Given the description of an element on the screen output the (x, y) to click on. 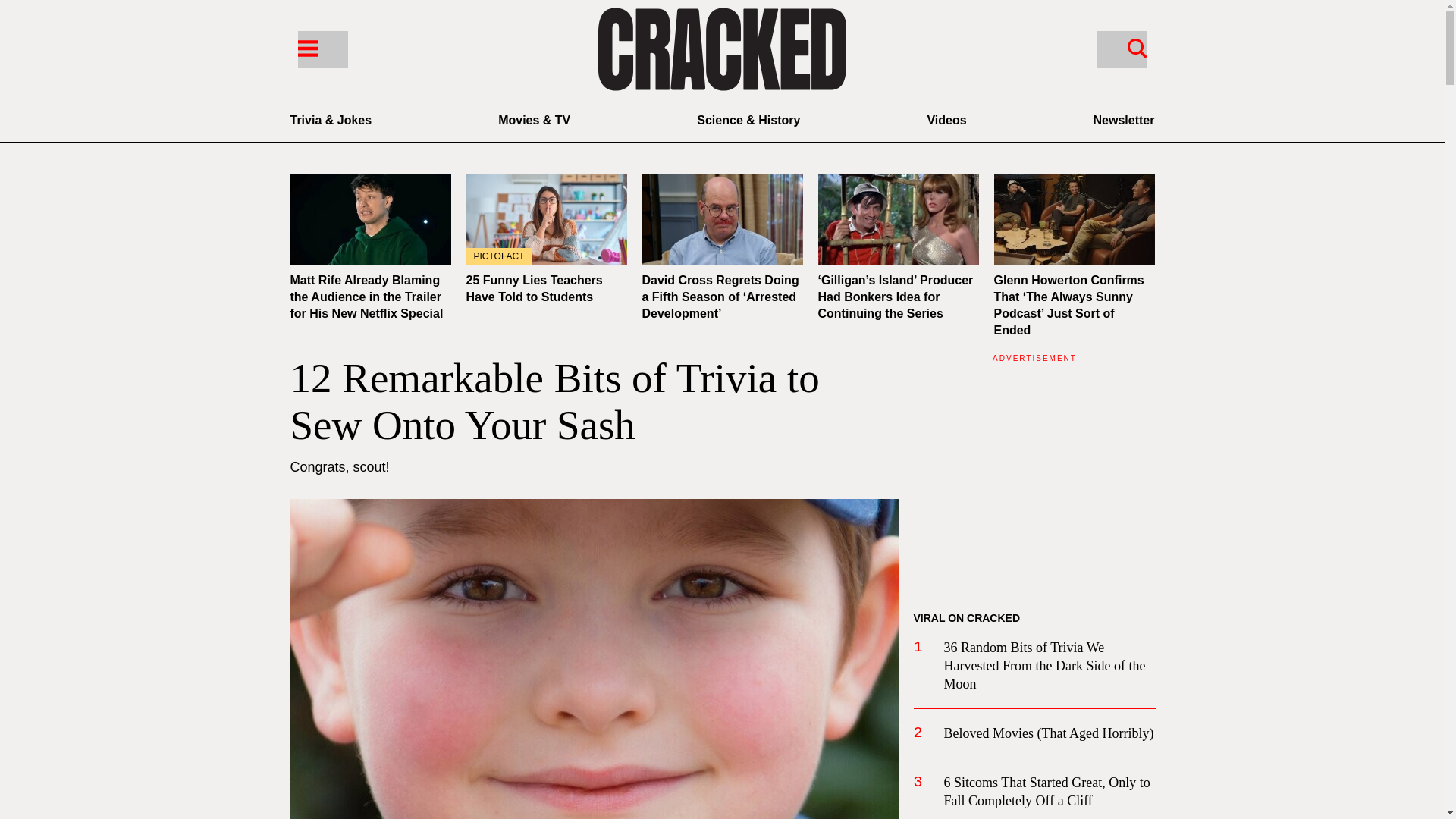
Menu (322, 48)
25 Funny Lies Teachers Have Told to Students (545, 219)
Menu (307, 47)
Search (1121, 48)
Newsletter (1123, 119)
Cracked Newsletter (1123, 119)
Search (1136, 47)
Videos (946, 119)
25 Funny Lies Teachers Have Told to Students (533, 288)
PICTOFACT (545, 219)
Videos (946, 119)
